Given the description of an element on the screen output the (x, y) to click on. 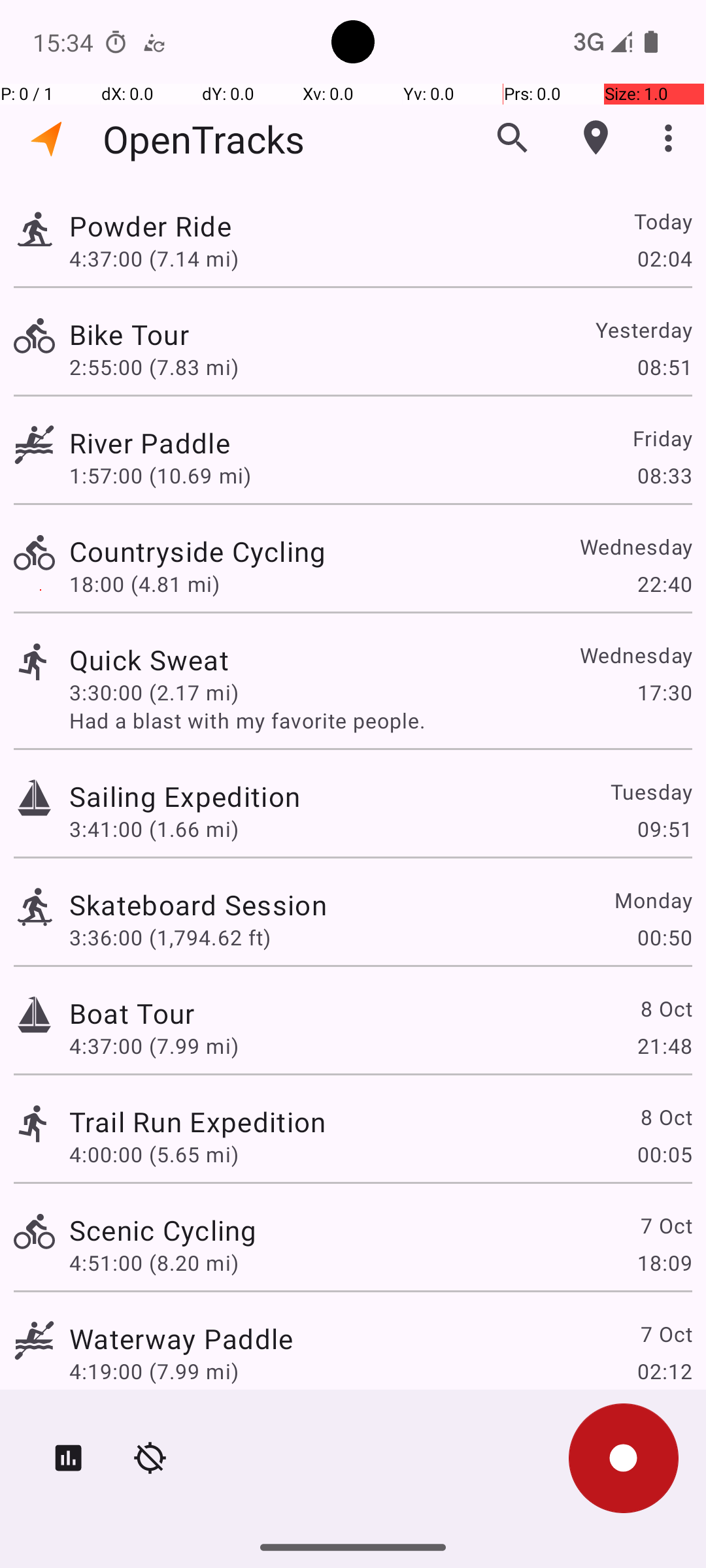
Powder Ride Element type: android.widget.TextView (150, 225)
4:37:00 (7.14 mi) Element type: android.widget.TextView (153, 258)
02:04 Element type: android.widget.TextView (664, 258)
Bike Tour Element type: android.widget.TextView (128, 333)
2:55:00 (7.83 mi) Element type: android.widget.TextView (153, 366)
08:51 Element type: android.widget.TextView (664, 366)
River Paddle Element type: android.widget.TextView (149, 442)
1:57:00 (10.69 mi) Element type: android.widget.TextView (159, 475)
08:33 Element type: android.widget.TextView (664, 475)
Countryside Cycling Element type: android.widget.TextView (197, 550)
18:00 (4.81 mi) Element type: android.widget.TextView (144, 583)
22:40 Element type: android.widget.TextView (664, 583)
Quick Sweat Element type: android.widget.TextView (148, 659)
3:30:00 (2.17 mi) Element type: android.widget.TextView (153, 692)
17:30 Element type: android.widget.TextView (664, 692)
Had a blast with my favorite people. Element type: android.widget.TextView (380, 720)
Sailing Expedition Element type: android.widget.TextView (184, 795)
3:41:00 (1.66 mi) Element type: android.widget.TextView (153, 828)
09:51 Element type: android.widget.TextView (664, 828)
Skateboard Session Element type: android.widget.TextView (197, 904)
3:36:00 (1,794.62 ft) Element type: android.widget.TextView (169, 937)
00:50 Element type: android.widget.TextView (664, 937)
Boat Tour Element type: android.widget.TextView (131, 1012)
4:37:00 (7.99 mi) Element type: android.widget.TextView (153, 1045)
21:48 Element type: android.widget.TextView (664, 1045)
Trail Run Expedition Element type: android.widget.TextView (197, 1121)
4:00:00 (5.65 mi) Element type: android.widget.TextView (153, 1154)
00:05 Element type: android.widget.TextView (664, 1154)
4:51:00 (8.20 mi) Element type: android.widget.TextView (153, 1262)
18:09 Element type: android.widget.TextView (664, 1262)
Waterway Paddle Element type: android.widget.TextView (180, 1337)
4:19:00 (7.99 mi) Element type: android.widget.TextView (153, 1370)
02:12 Element type: android.widget.TextView (664, 1370)
